Given the description of an element on the screen output the (x, y) to click on. 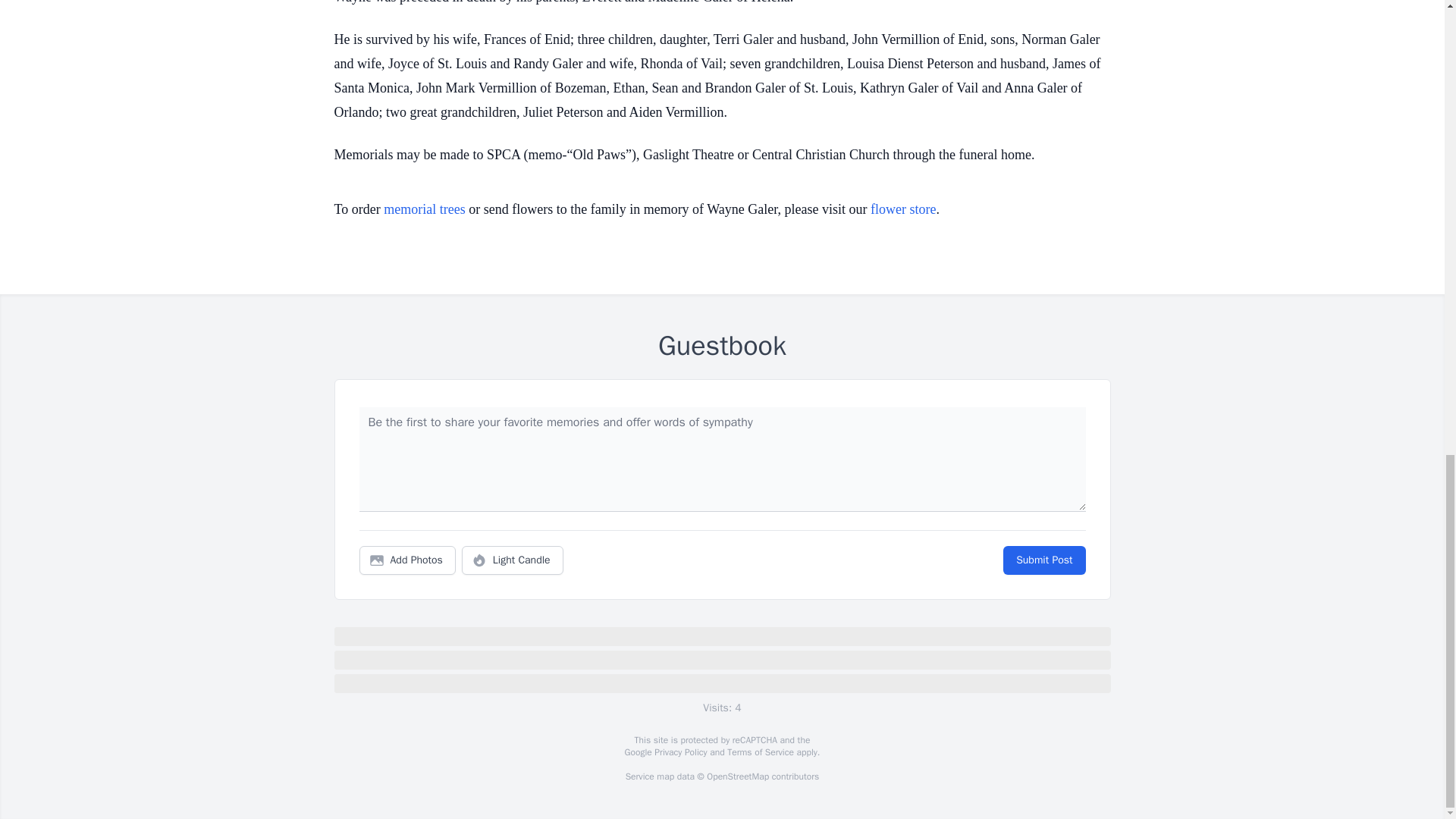
OpenStreetMap (737, 776)
Submit Post (1043, 560)
Light Candle (512, 560)
Add Photos (407, 560)
flower store (903, 209)
memorial trees (424, 209)
Terms of Service (759, 752)
Privacy Policy (679, 752)
